Given the description of an element on the screen output the (x, y) to click on. 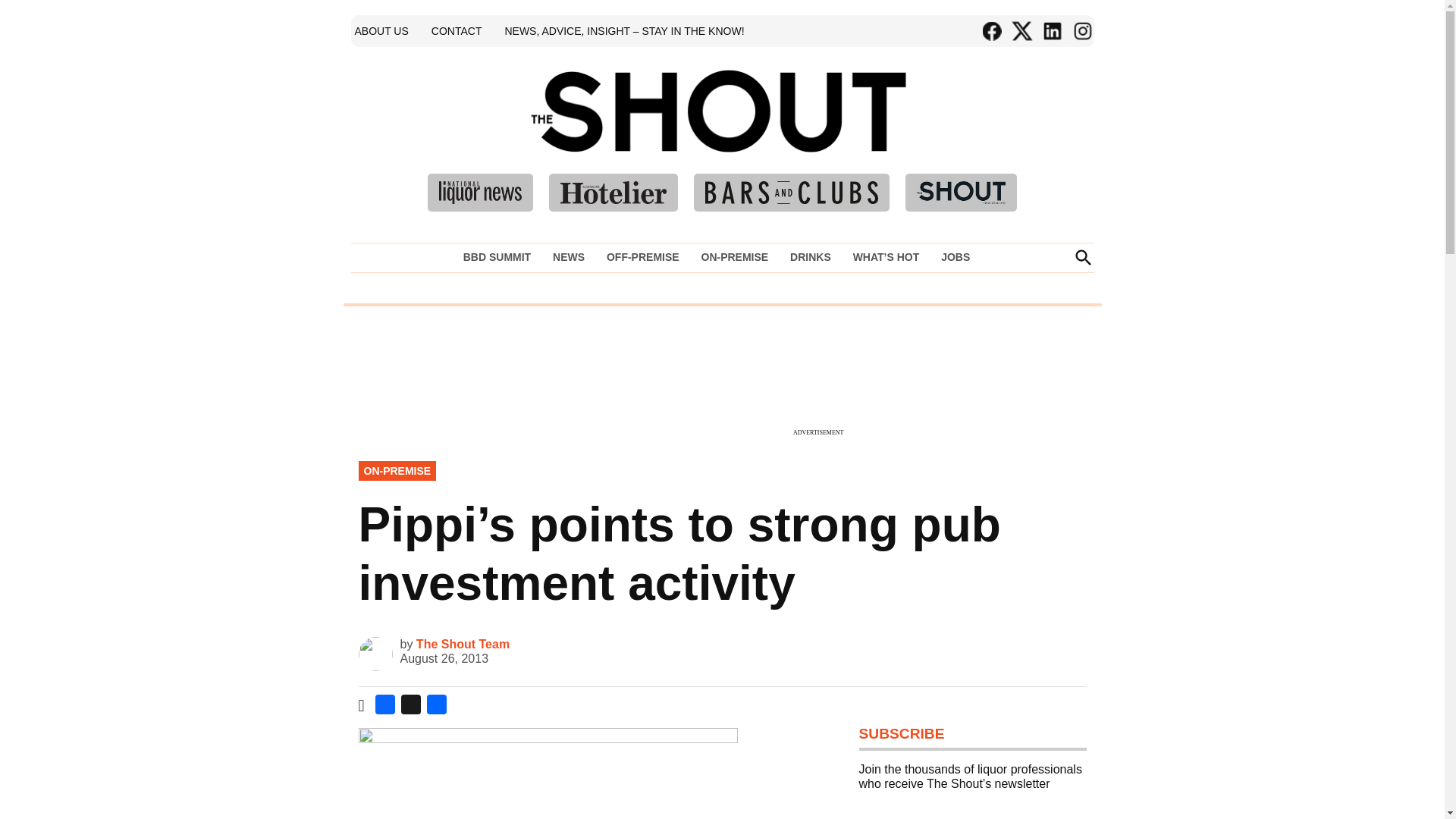
ABOUT US (381, 30)
Twitter (1021, 31)
Facebook (384, 707)
ON-PREMISE (734, 256)
Instagram (1081, 31)
NEWS (568, 256)
CONTACT (457, 30)
The Shout (939, 133)
Facebook (991, 31)
BBD SUMMIT (500, 256)
